Given the description of an element on the screen output the (x, y) to click on. 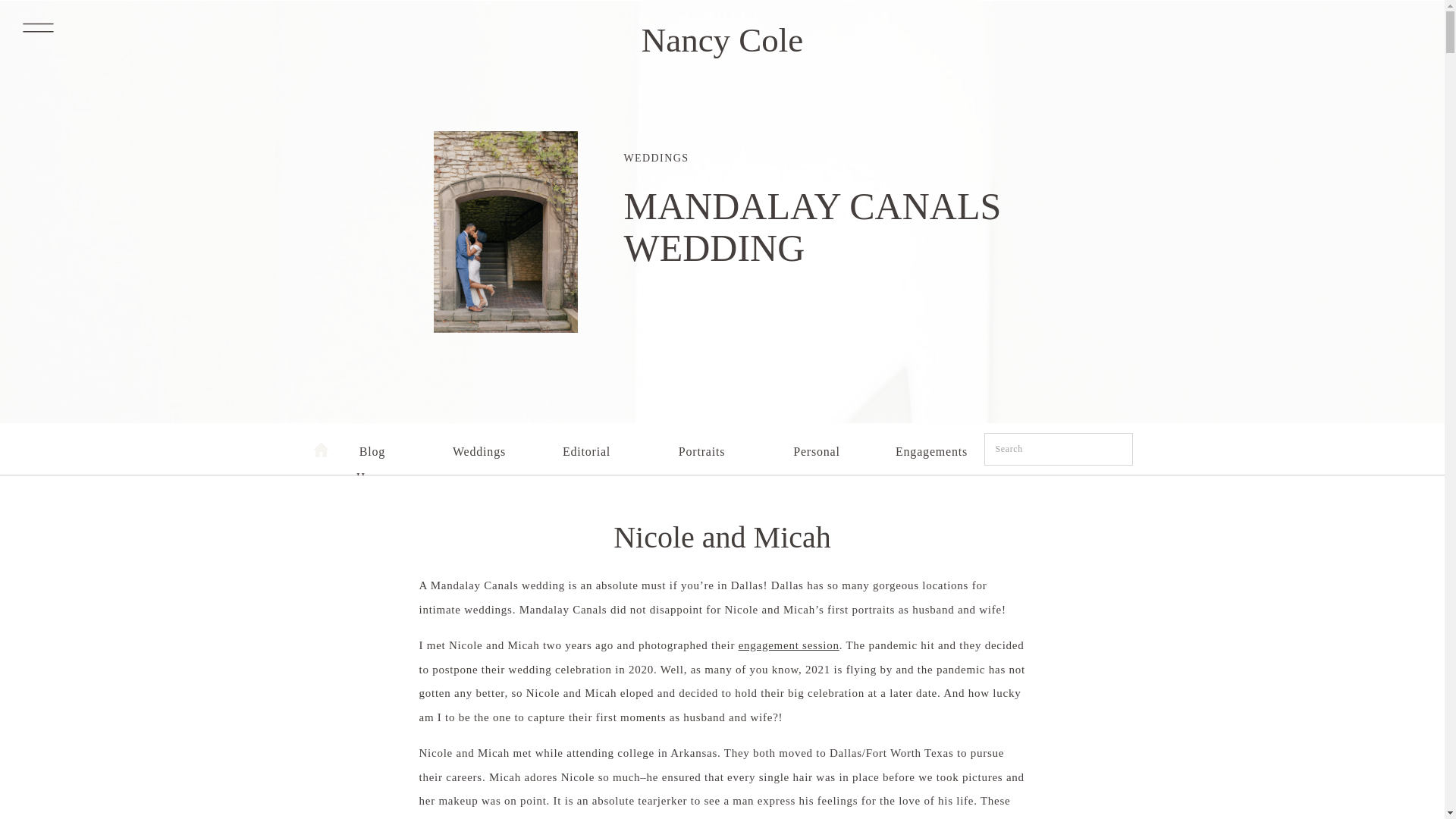
Blog Home (372, 446)
engagement session (789, 645)
Personal (816, 446)
Portraits (700, 446)
Engagements (932, 446)
Editorial (586, 446)
WEDDINGS (655, 157)
Weddings (478, 446)
Nancy Cole (722, 33)
